Given the description of an element on the screen output the (x, y) to click on. 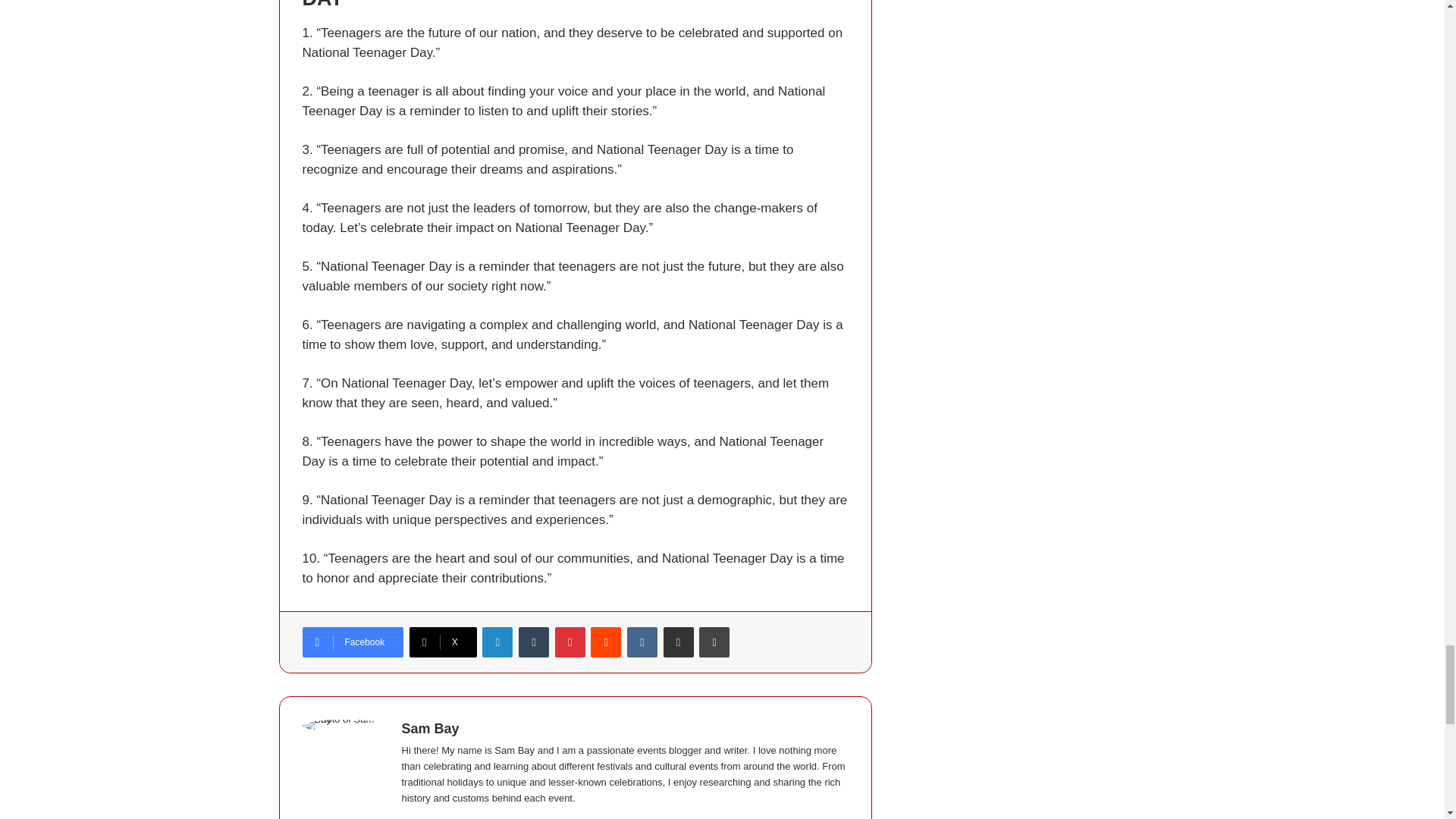
Reddit (606, 642)
Pinterest (569, 642)
Share via Email (678, 642)
Facebook (352, 642)
Tumblr (533, 642)
LinkedIn (496, 642)
VKontakte (642, 642)
X (443, 642)
